Given the description of an element on the screen output the (x, y) to click on. 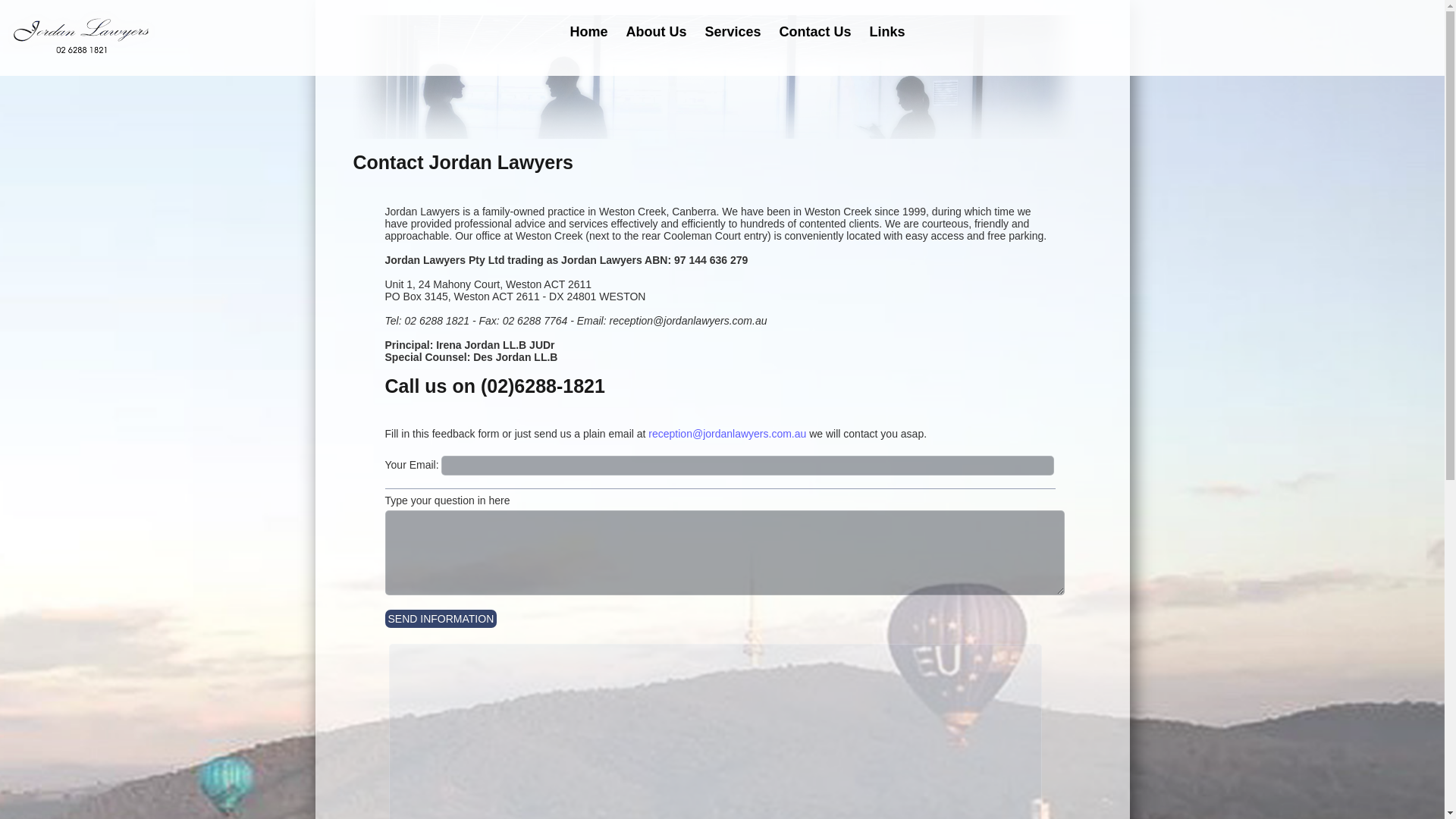
About Us Element type: text (655, 32)
reception@jordanlawyers.com.au Element type: text (727, 433)
Links Element type: text (887, 32)
Services Element type: text (732, 32)
SEND INFORMATION Element type: text (441, 618)
Contact Us Element type: text (815, 32)
Home Element type: text (588, 32)
